Given the description of an element on the screen output the (x, y) to click on. 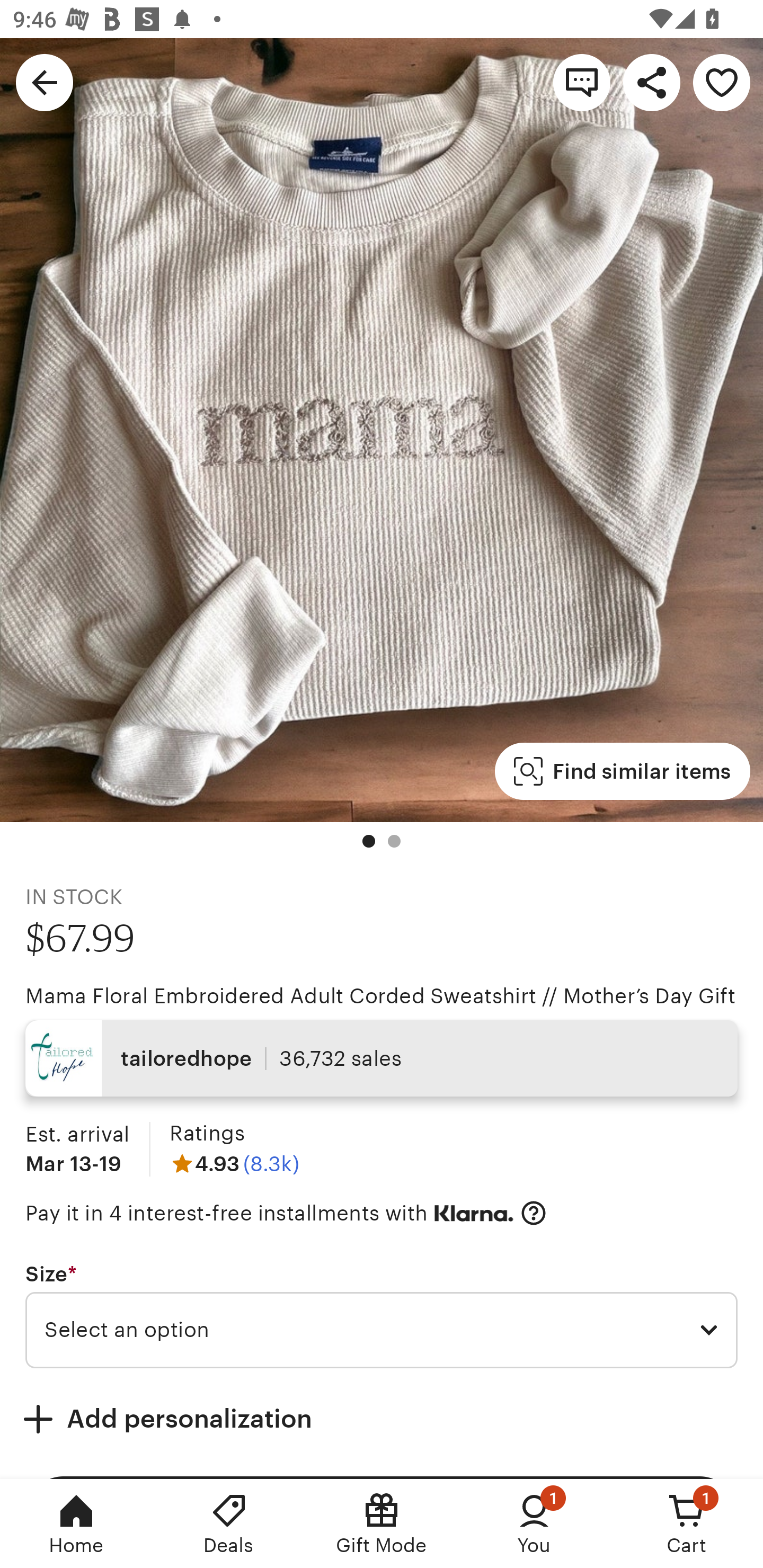
Navigate up (44, 81)
Contact shop (581, 81)
Share (651, 81)
Find similar items (622, 771)
tailoredhope 36,732 sales (381, 1058)
Ratings (206, 1133)
4.93 (8.3k) (234, 1163)
Size * Required Select an option (381, 1315)
Select an option (381, 1330)
Add personalization Add personalization Required (381, 1418)
Deals (228, 1523)
Gift Mode (381, 1523)
You, 1 new notification You (533, 1523)
Cart, 1 new notification Cart (686, 1523)
